Given the description of an element on the screen output the (x, y) to click on. 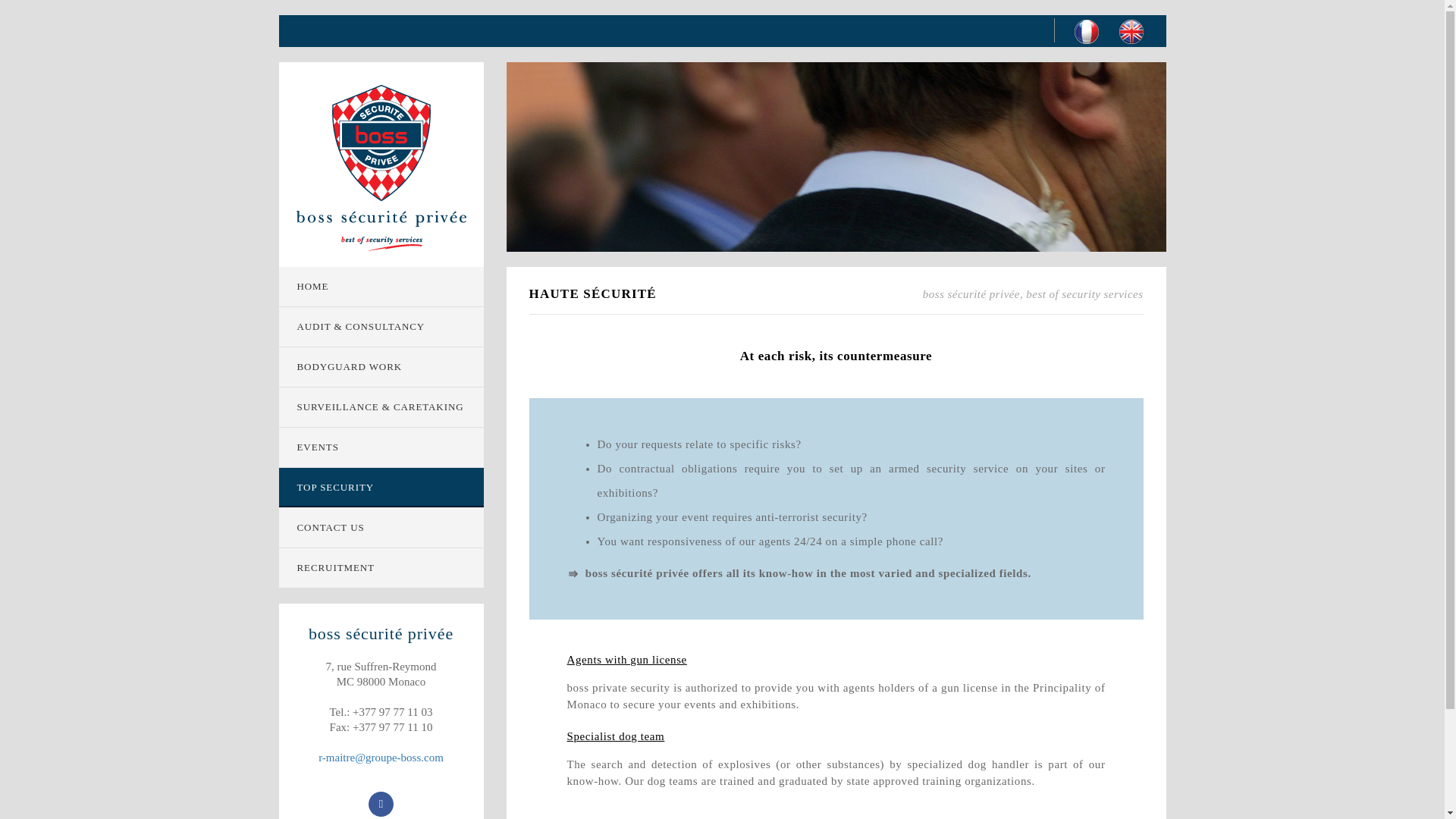
RECRUITMENT (381, 567)
EVENTS (381, 446)
CONTACT US (381, 527)
TOP SECURITY (381, 486)
HOME (381, 286)
BODYGUARD WORK (381, 366)
